Given the description of an element on the screen output the (x, y) to click on. 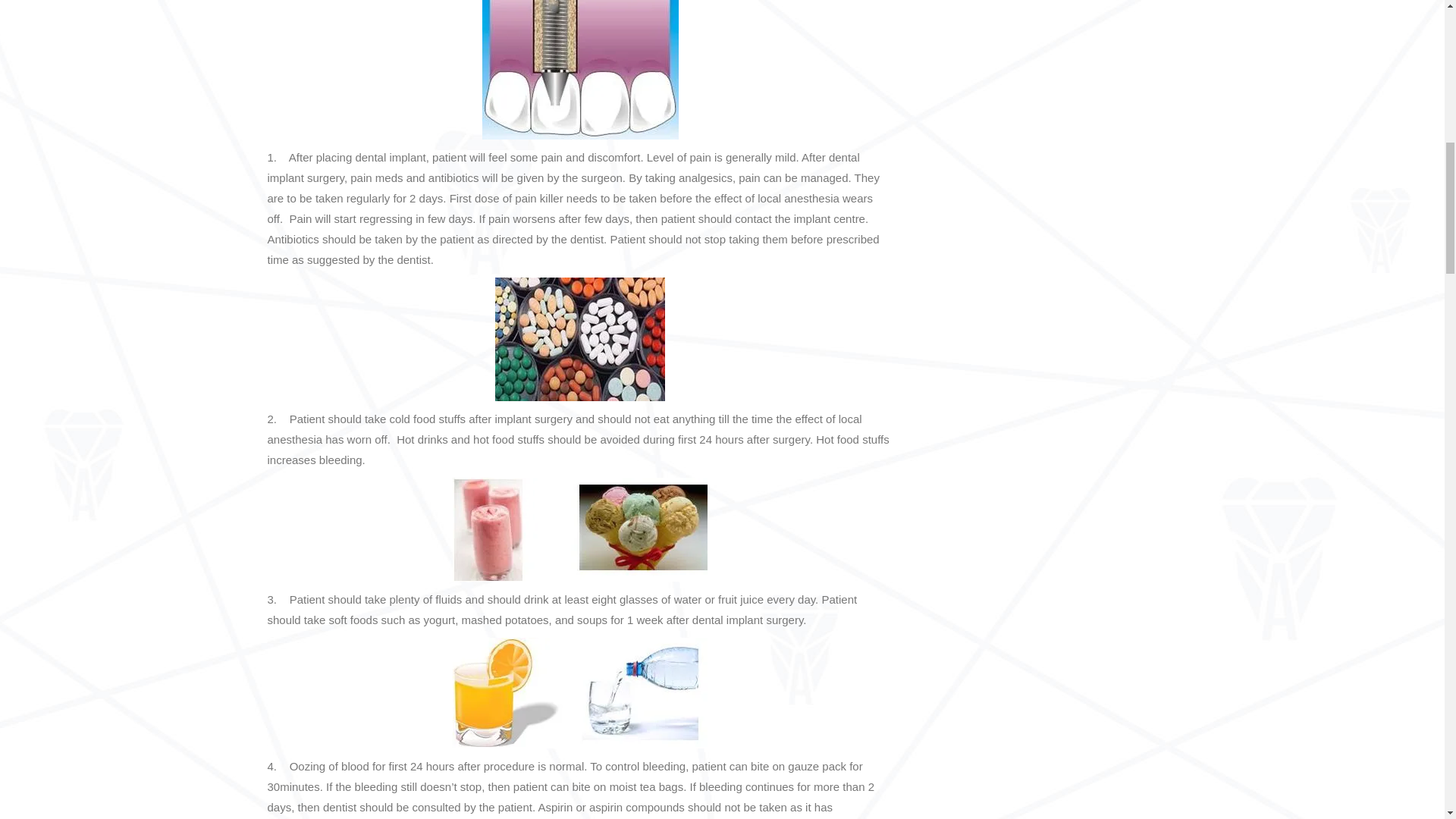
dental Implant5.JPG (579, 529)
dental Implant3.JPG (579, 69)
dental Implant4.JPG (579, 339)
dental Implant6.JPG (579, 693)
